Given the description of an element on the screen output the (x, y) to click on. 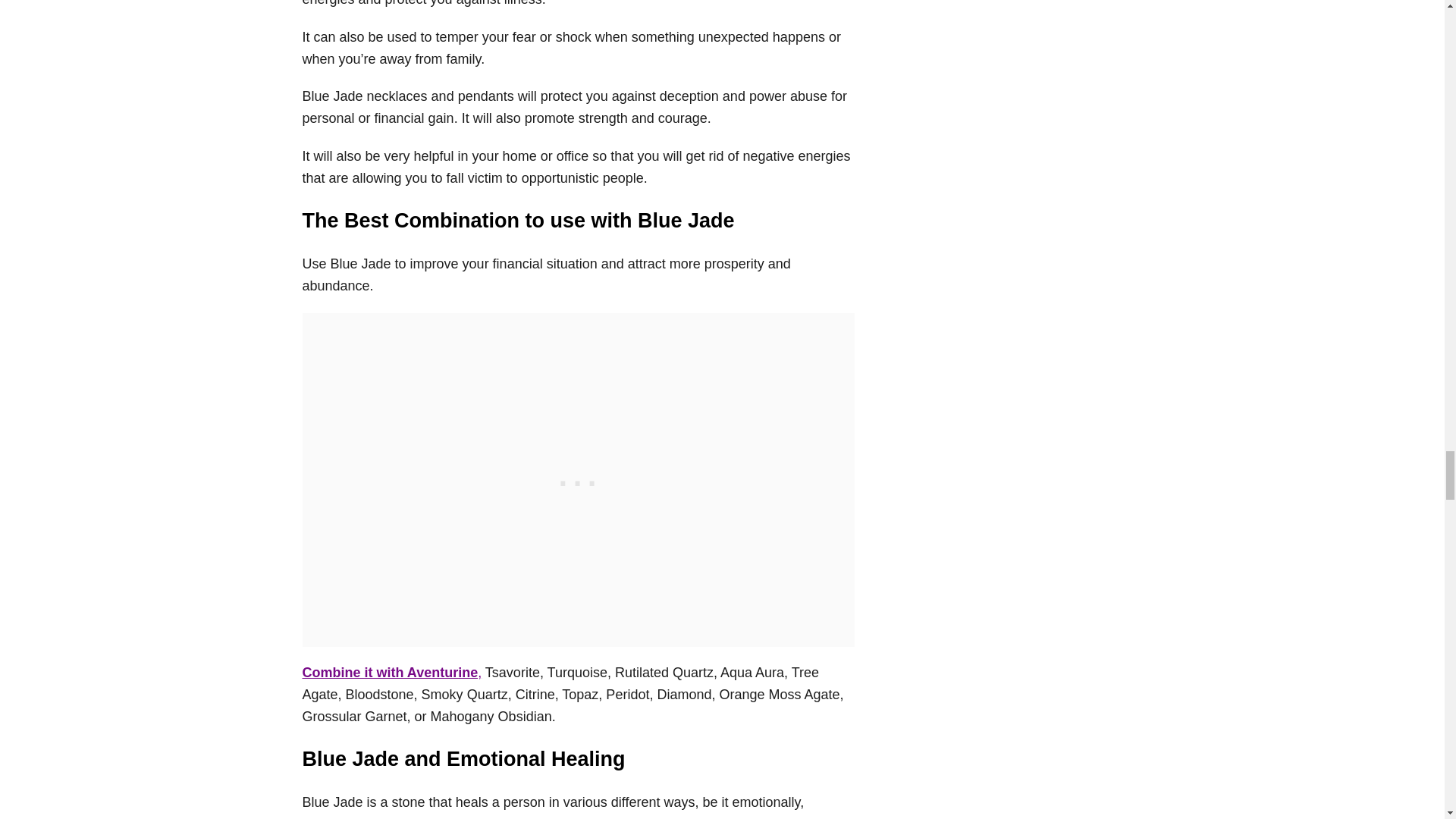
Combine it with Aventurine (389, 672)
